Given the description of an element on the screen output the (x, y) to click on. 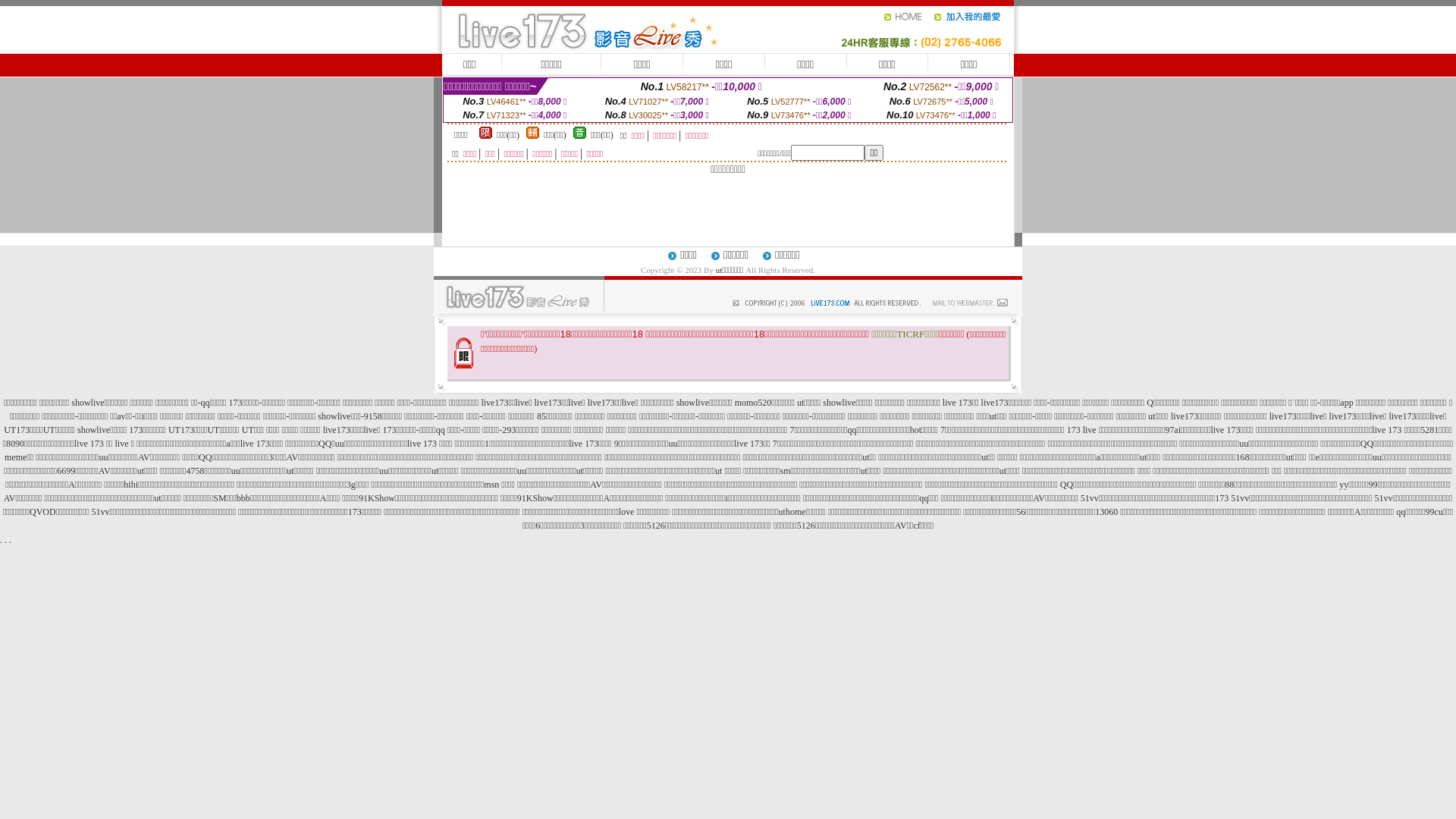
. Element type: text (10, 539)
. Element type: text (1, 539)
. Element type: text (5, 539)
